Given the description of an element on the screen output the (x, y) to click on. 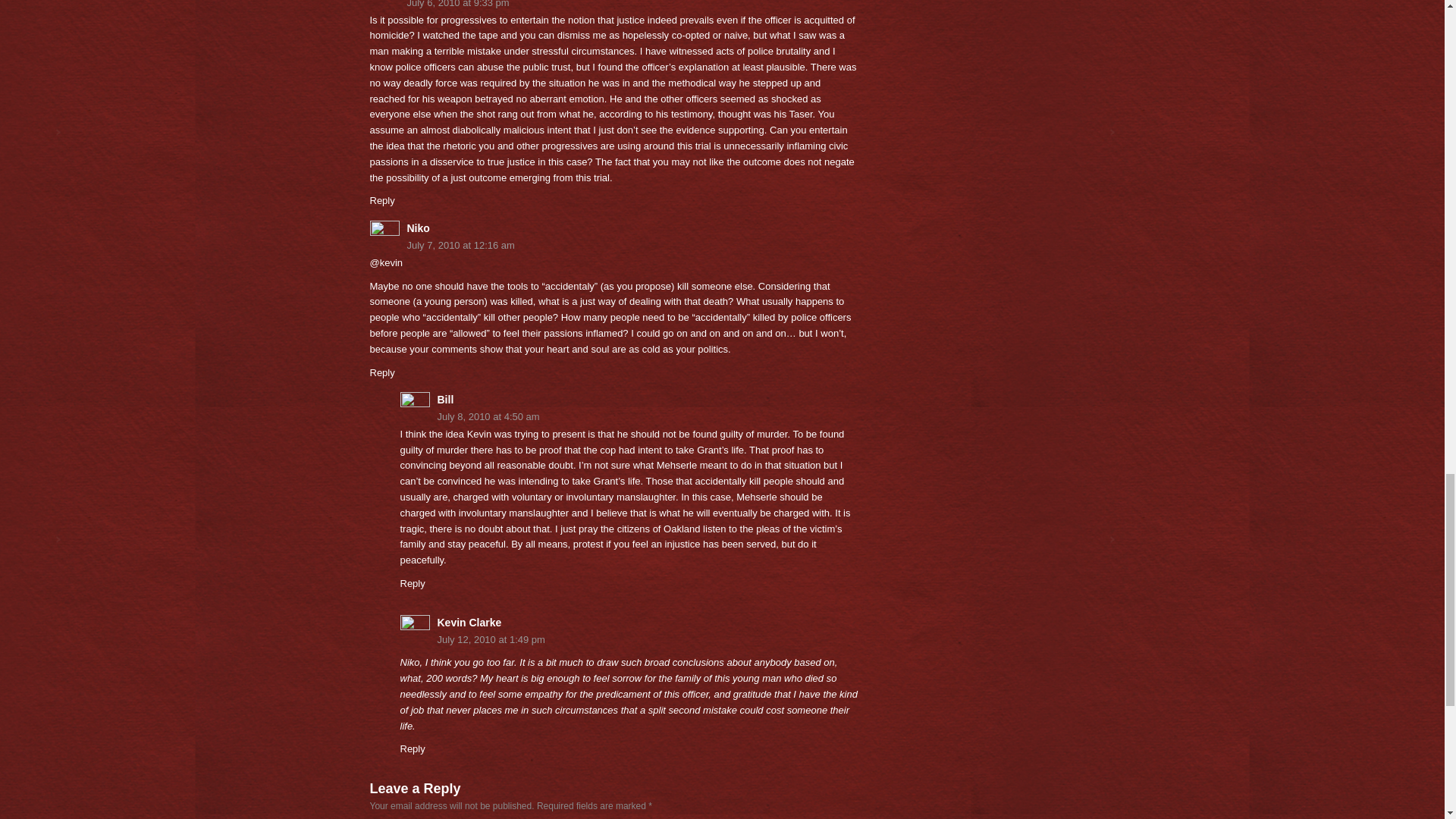
Reply (412, 748)
Reply (381, 372)
July 12, 2010 at 1:49 pm (629, 640)
July 6, 2010 at 9:33 pm (614, 5)
Reply (412, 583)
Reply (381, 200)
July 8, 2010 at 4:50 am (629, 417)
July 7, 2010 at 12:16 am (614, 245)
